Given the description of an element on the screen output the (x, y) to click on. 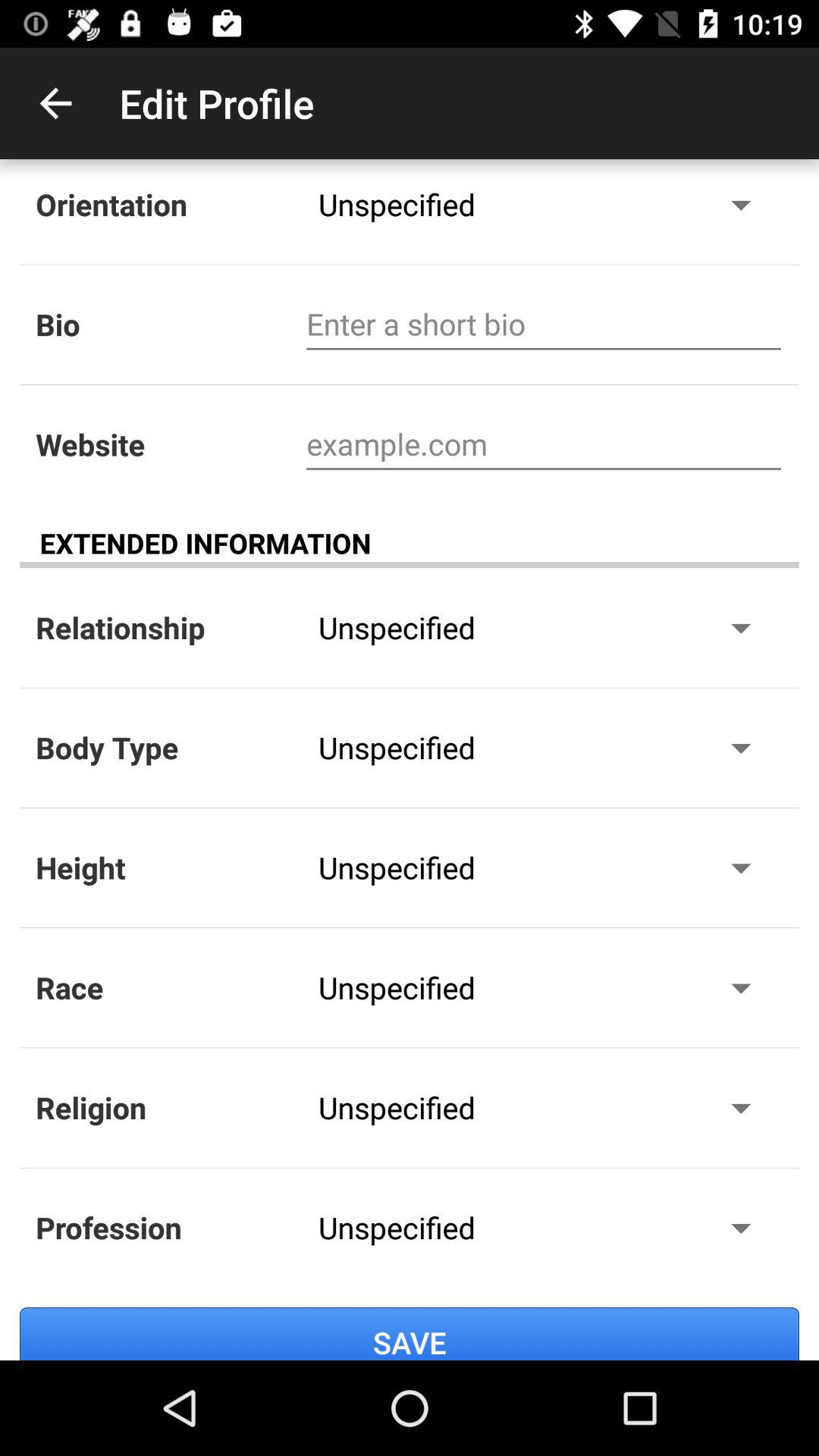
website (543, 444)
